Given the description of an element on the screen output the (x, y) to click on. 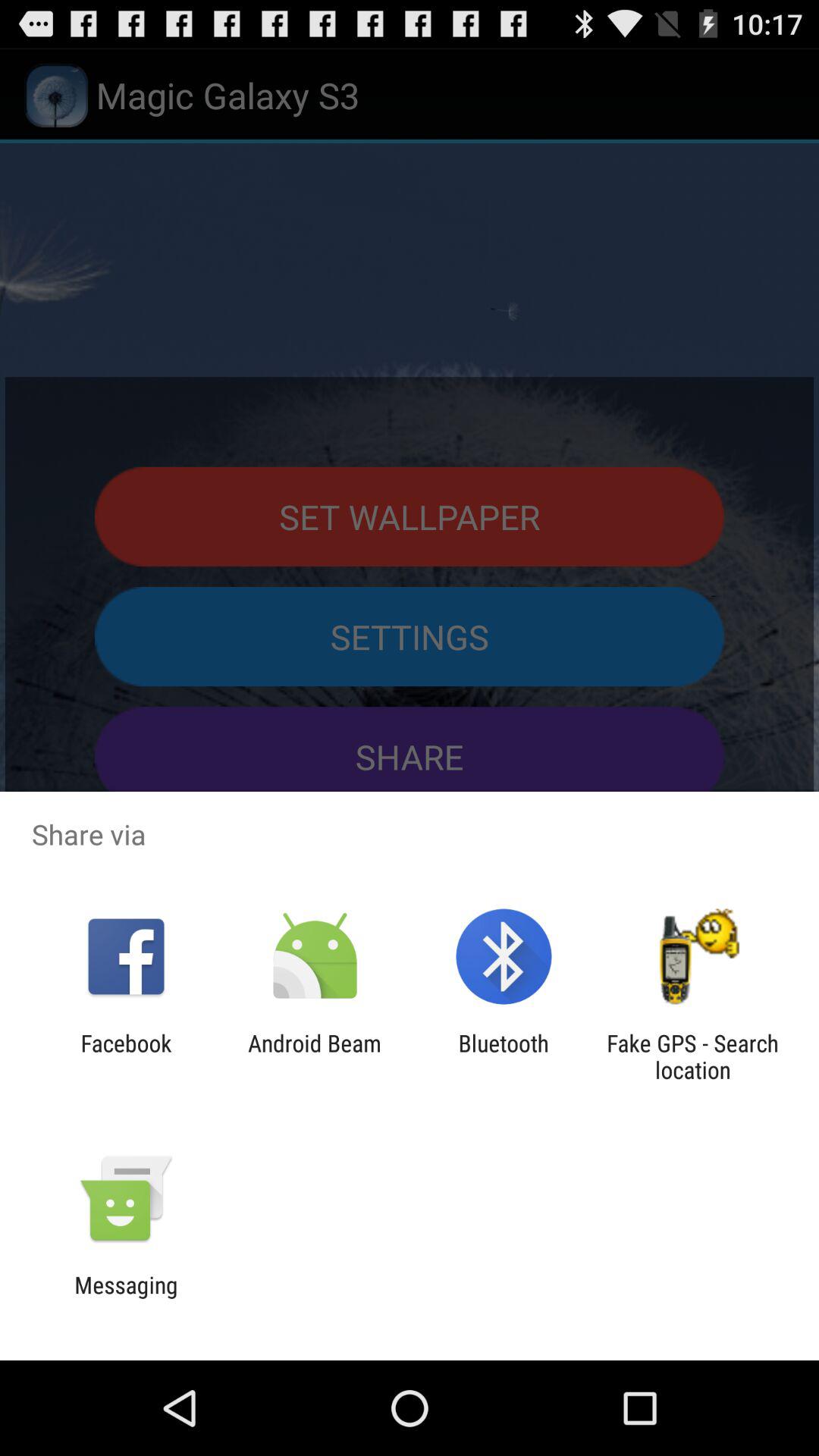
swipe to bluetooth item (503, 1056)
